Given the description of an element on the screen output the (x, y) to click on. 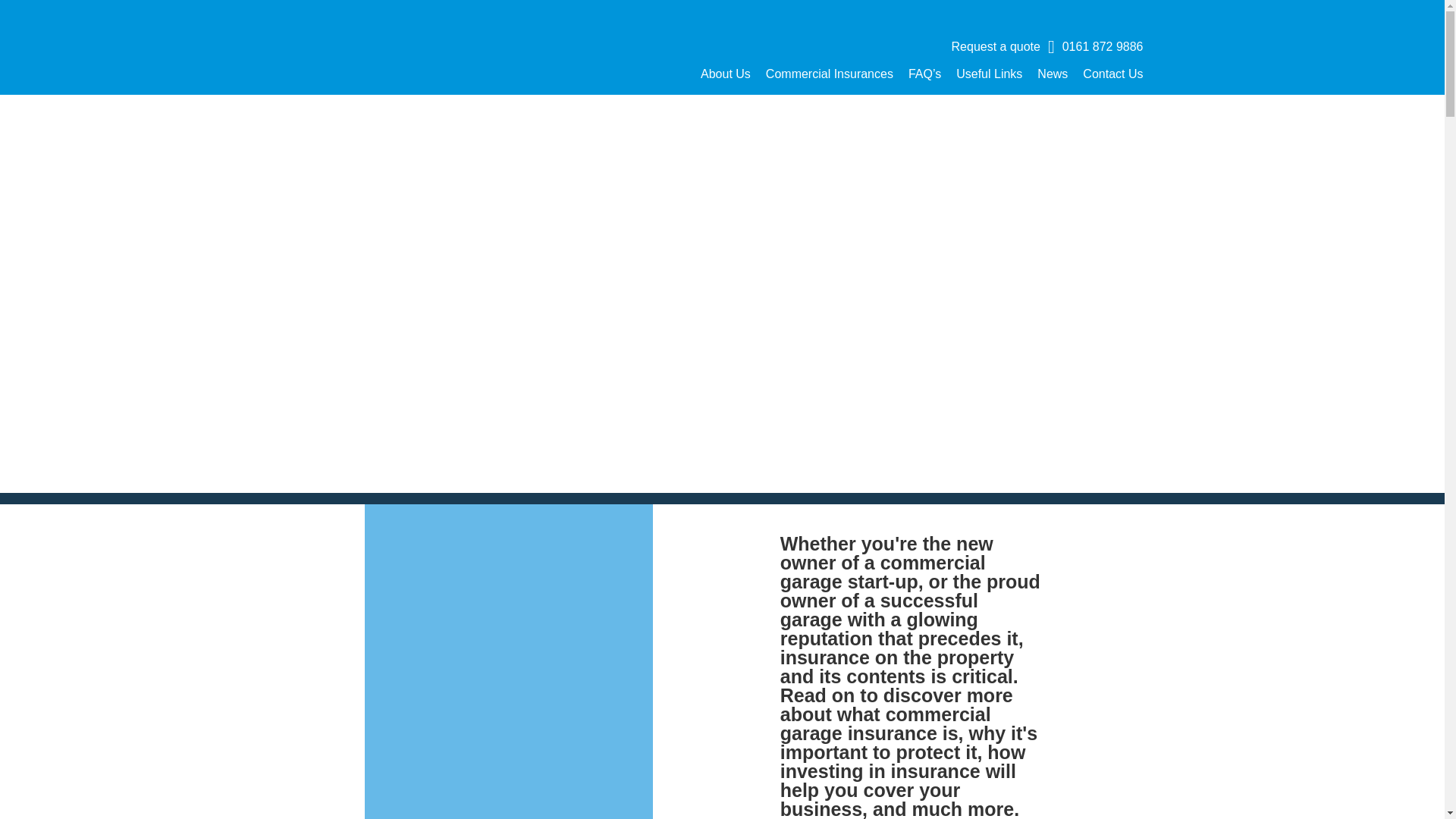
Contact Us (1112, 73)
Commercial Insurances (829, 73)
About Us (725, 73)
Useful Links (989, 73)
News (1051, 73)
